Given the description of an element on the screen output the (x, y) to click on. 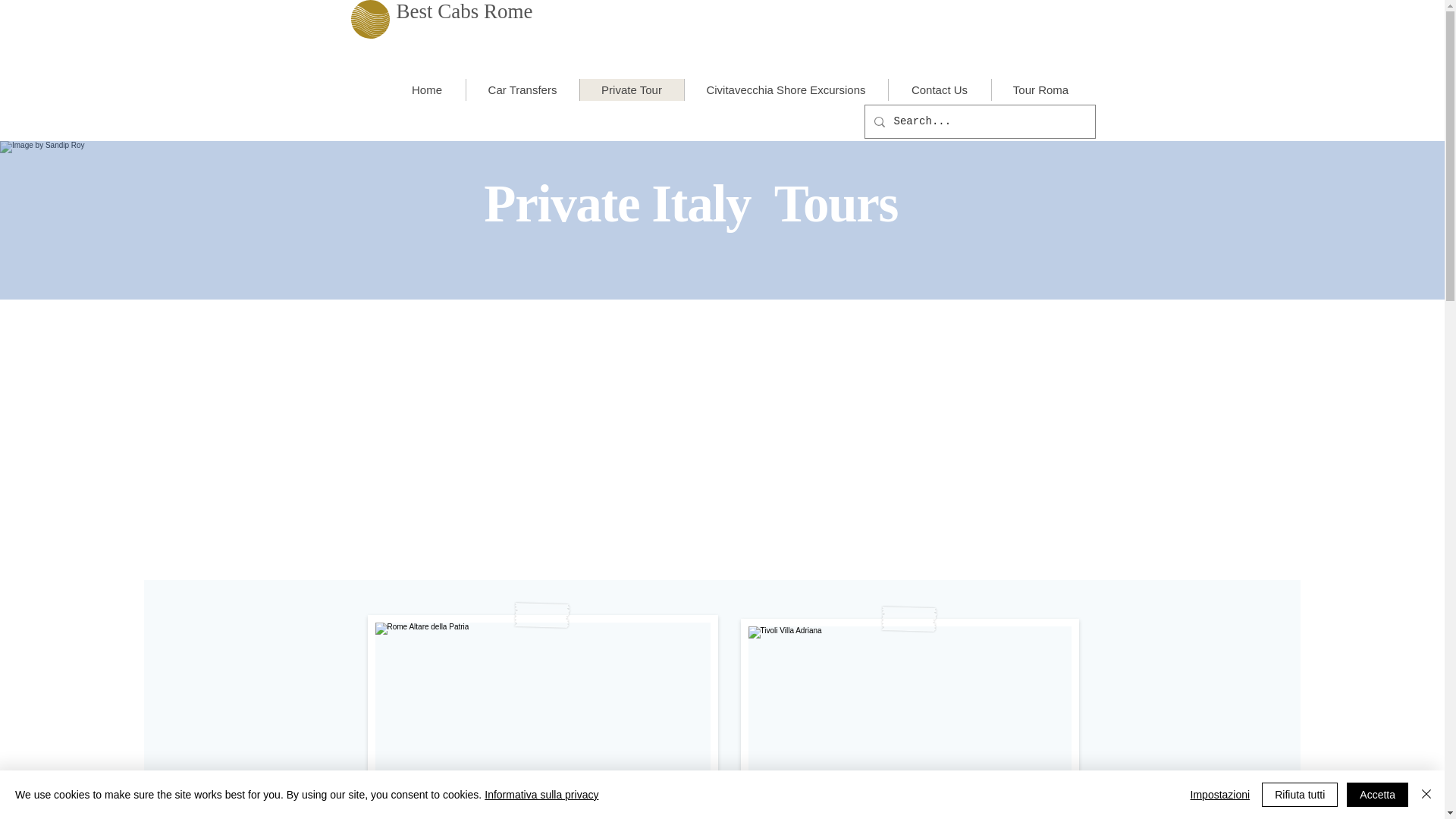
Civitavecchia Shore Excursions (786, 89)
Private Tour (631, 89)
Tour Roma (1039, 89)
Car Transfers (522, 89)
Rifiuta tutti (1300, 794)
Accetta (1376, 794)
Contact Us (938, 89)
Home (426, 89)
Informativa sulla privacy (541, 794)
